Given the description of an element on the screen output the (x, y) to click on. 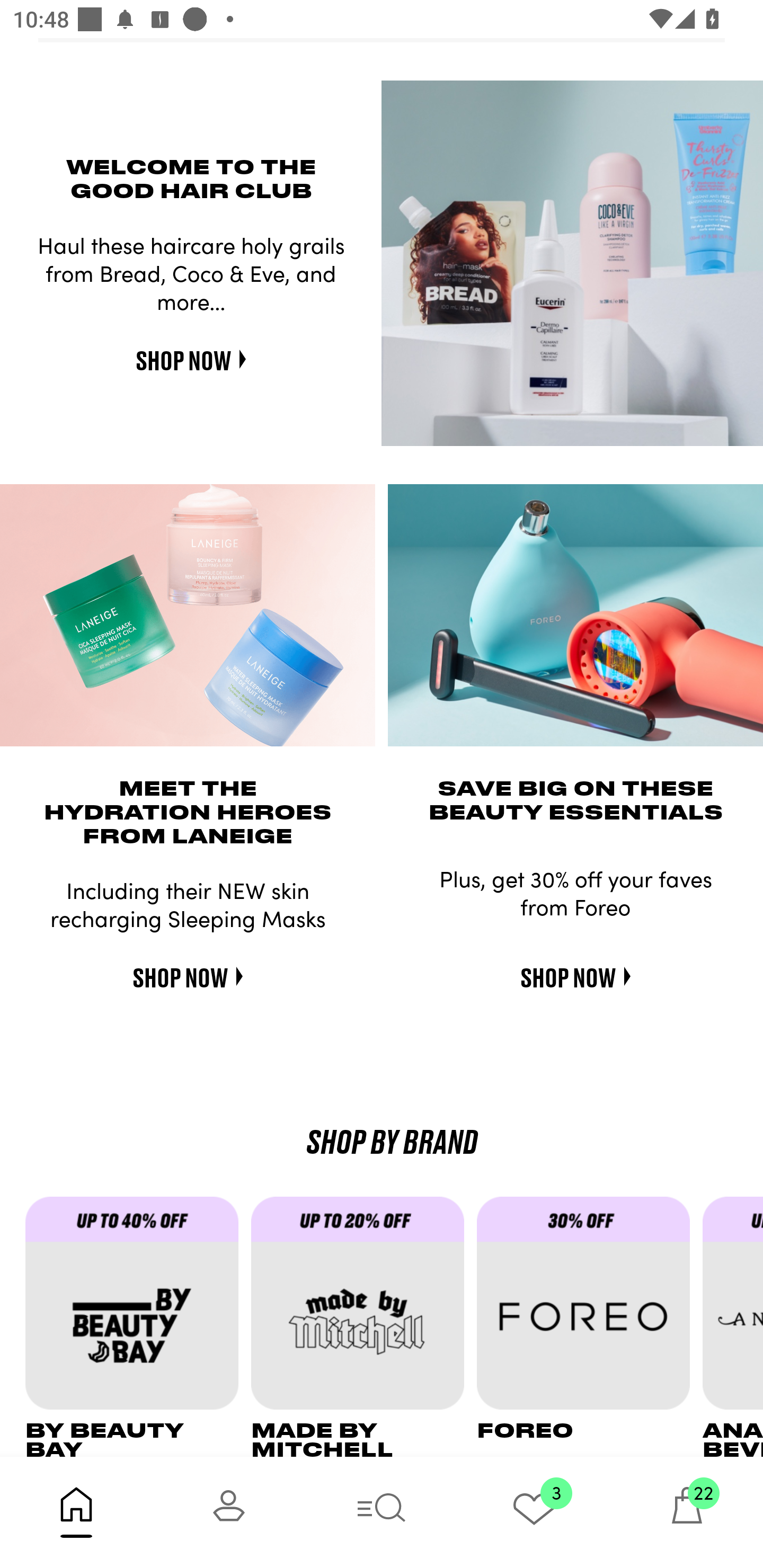
BY BEAUTY BAY (138, 1326)
MADE BY MITCHELL (363, 1326)
FOREO (589, 1326)
3 (533, 1512)
22 (686, 1512)
